Given the description of an element on the screen output the (x, y) to click on. 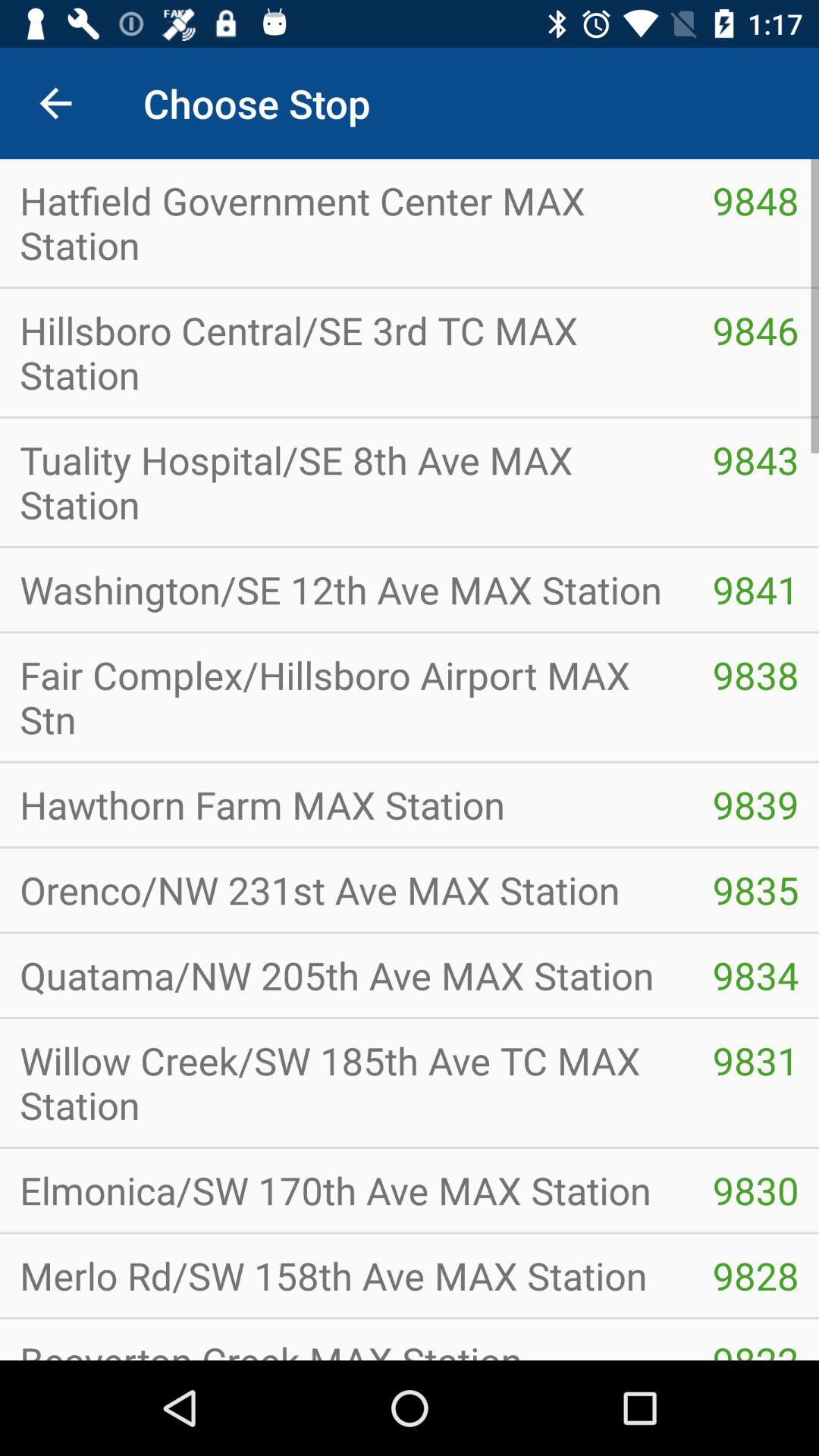
turn on the icon above elmonica sw 170th (755, 1060)
